Given the description of an element on the screen output the (x, y) to click on. 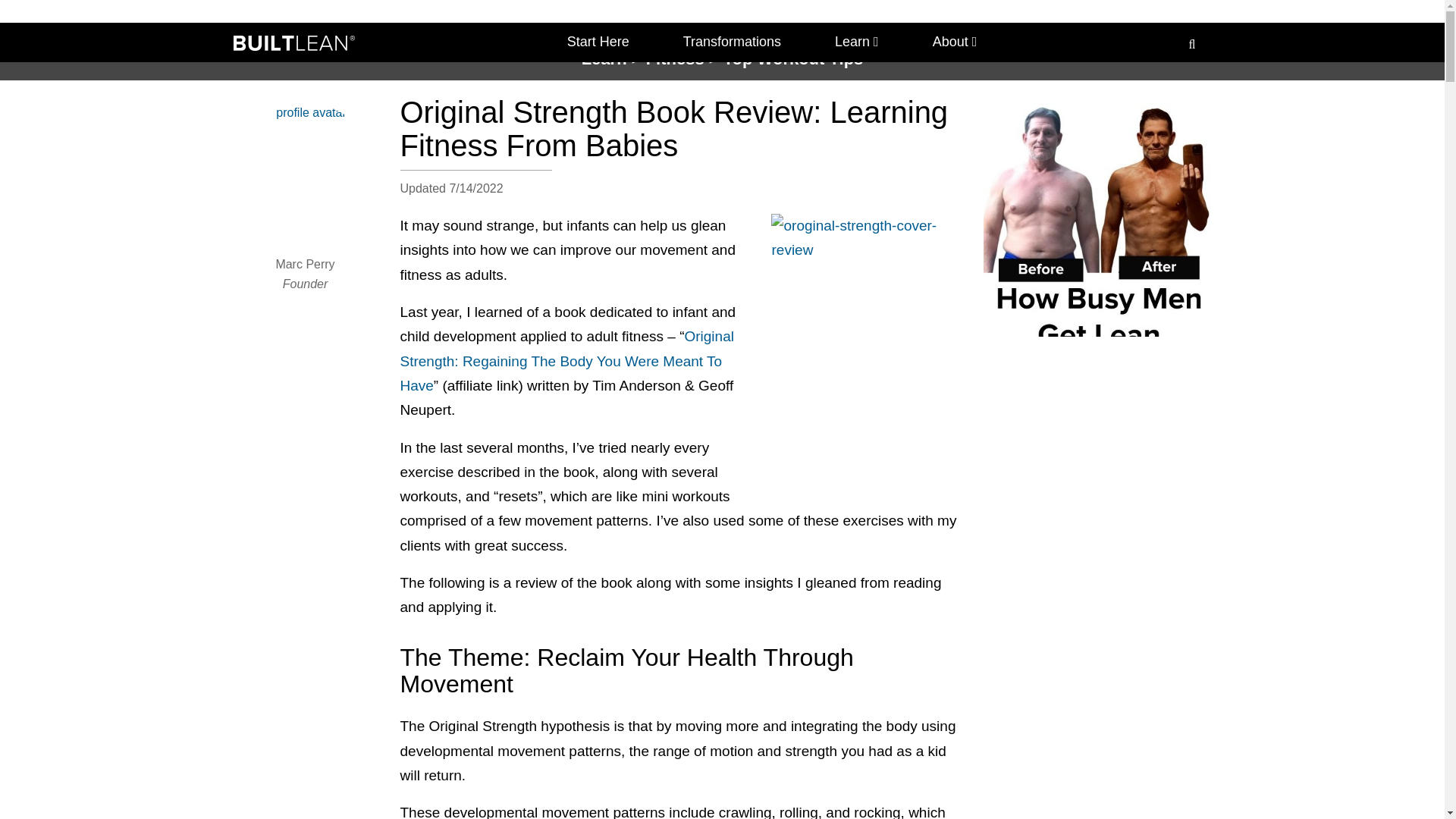
Learn (856, 41)
Start Here (598, 41)
Transformations (731, 41)
